Given the description of an element on the screen output the (x, y) to click on. 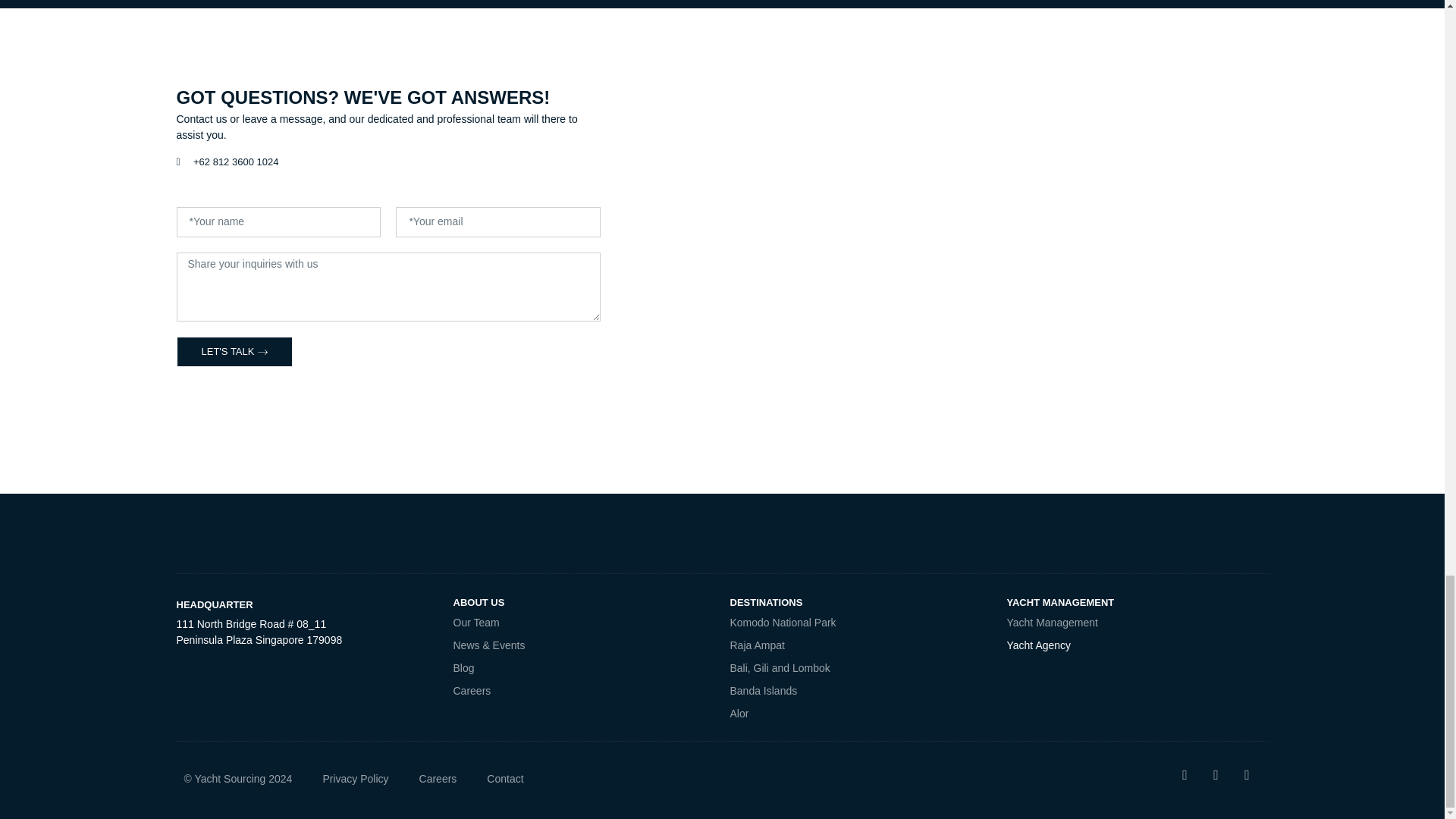
Blog (583, 667)
LET'S TALK (234, 351)
Careers (583, 690)
Our Team (583, 621)
